Given the description of an element on the screen output the (x, y) to click on. 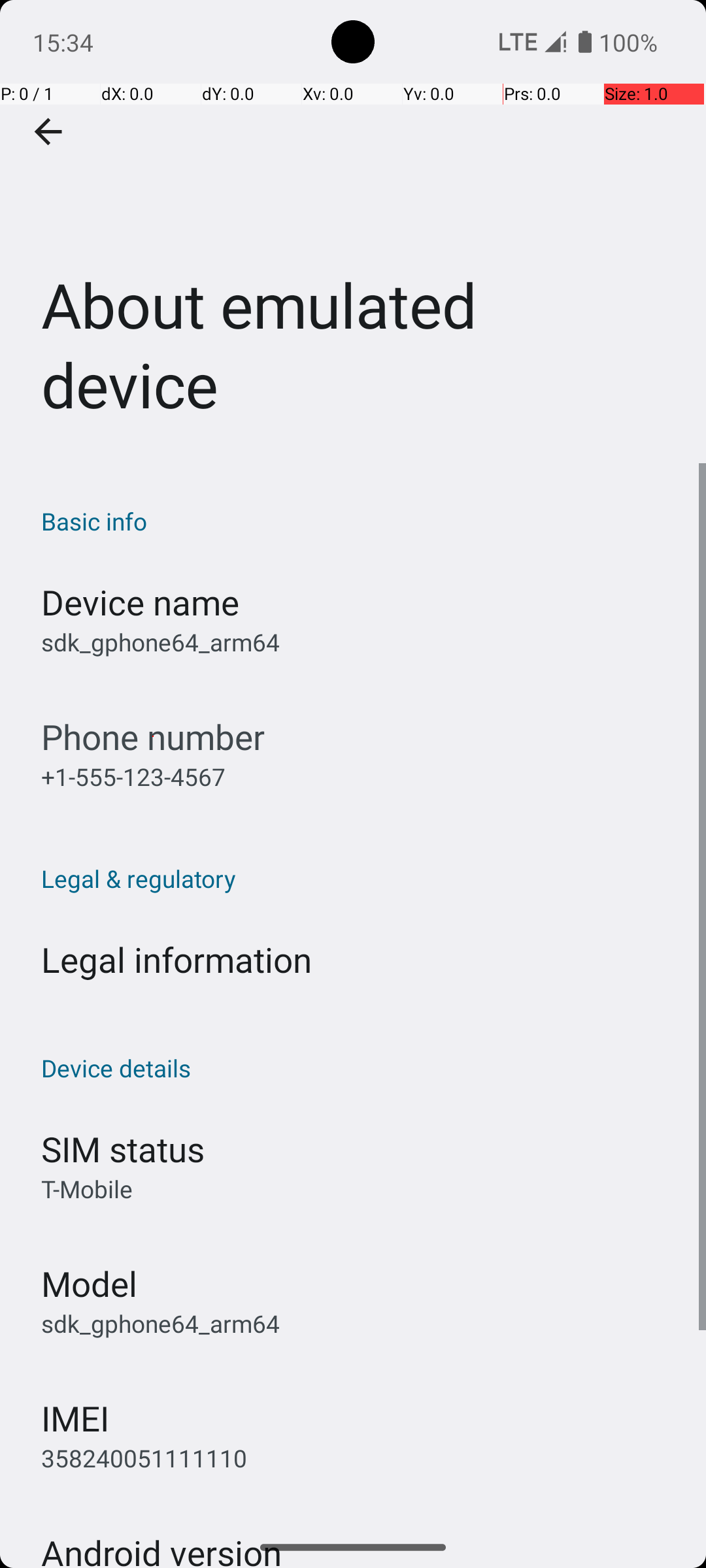
About emulated device Element type: android.widget.FrameLayout (353, 231)
Basic info Element type: android.widget.TextView (359, 520)
Phone number Element type: android.widget.TextView (152, 736)
+1-555-123-4567 Element type: android.widget.TextView (133, 776)
Legal & regulatory Element type: android.widget.TextView (359, 878)
Legal information Element type: android.widget.TextView (176, 959)
Device details Element type: android.widget.TextView (359, 1067)
SIM status Element type: android.widget.TextView (122, 1148)
Model Element type: android.widget.TextView (89, 1283)
IMEI Element type: android.widget.TextView (75, 1417)
358240051111110 Element type: android.widget.TextView (144, 1457)
